Given the description of an element on the screen output the (x, y) to click on. 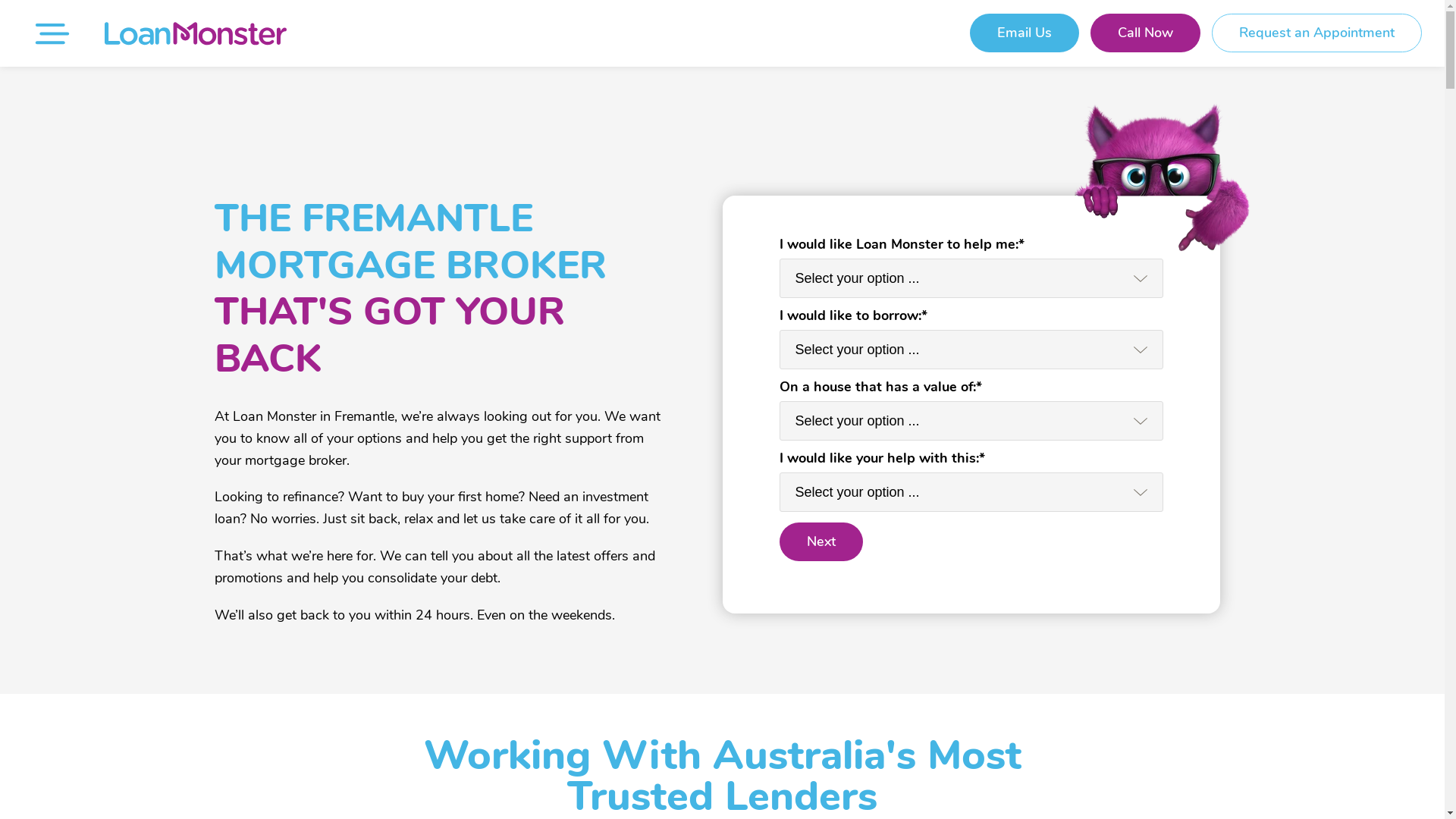
Call Now Element type: text (1145, 32)
Next Element type: text (820, 541)
Email Us Element type: text (1024, 32)
Request an Appointment Element type: text (1316, 32)
